Given the description of an element on the screen output the (x, y) to click on. 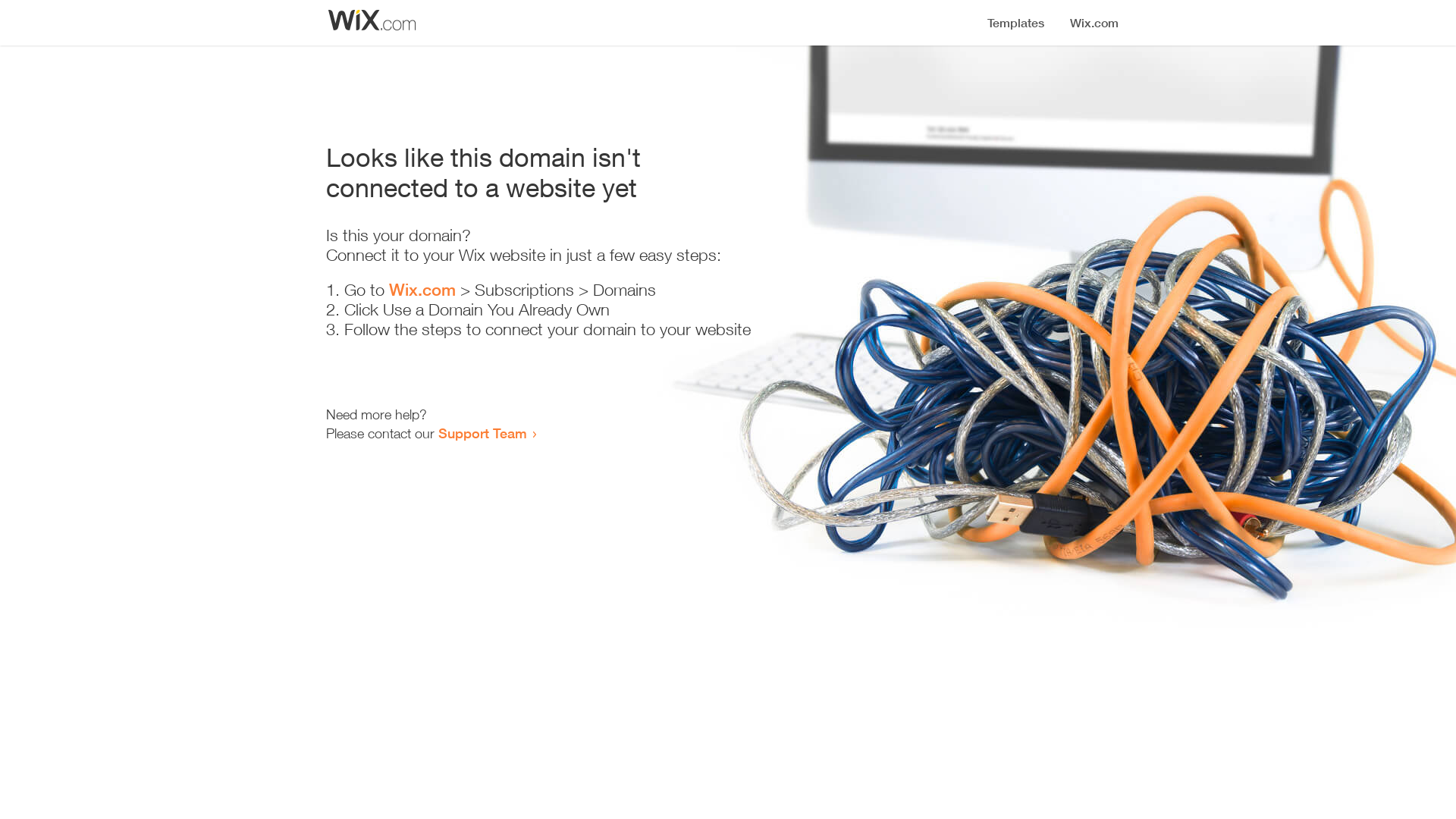
Support Team Element type: text (482, 432)
Wix.com Element type: text (422, 289)
